Given the description of an element on the screen output the (x, y) to click on. 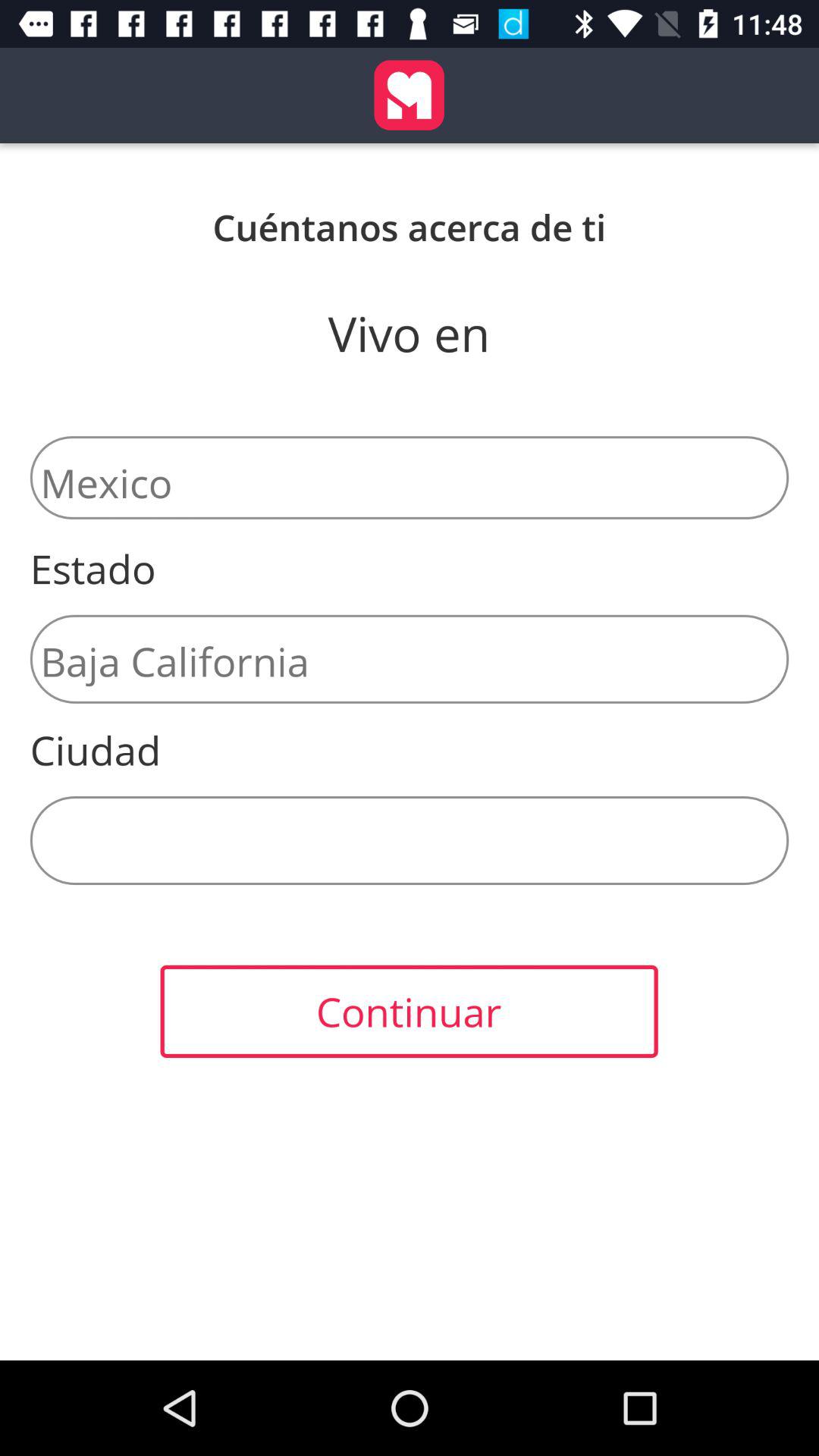
scroll to the mexico item (409, 477)
